Given the description of an element on the screen output the (x, y) to click on. 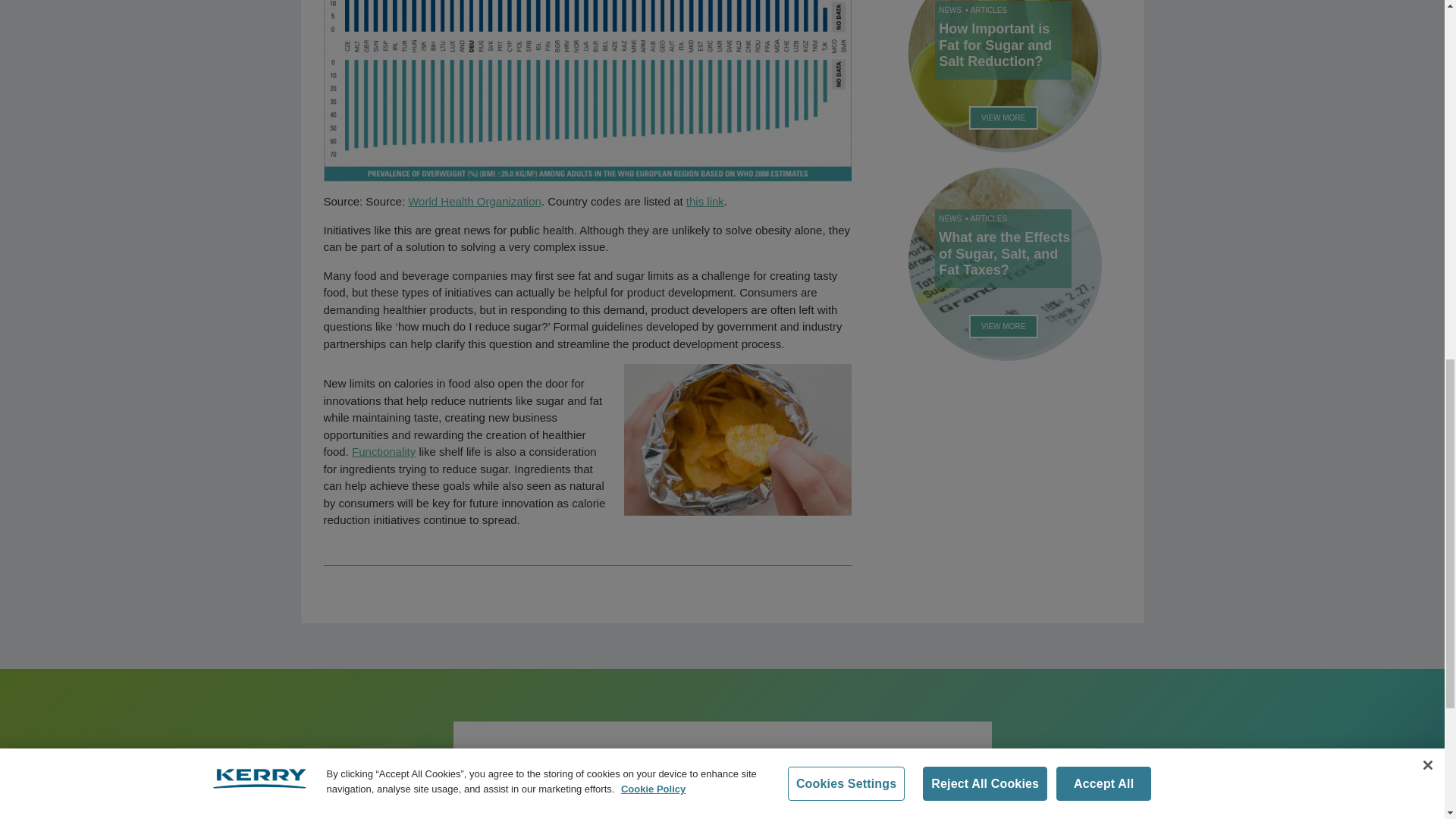
World Health Organization (474, 201)
NEWS (949, 9)
VIEW MORE (1002, 117)
Functionality (383, 451)
ARTICLES (988, 9)
this link (704, 201)
